Given the description of an element on the screen output the (x, y) to click on. 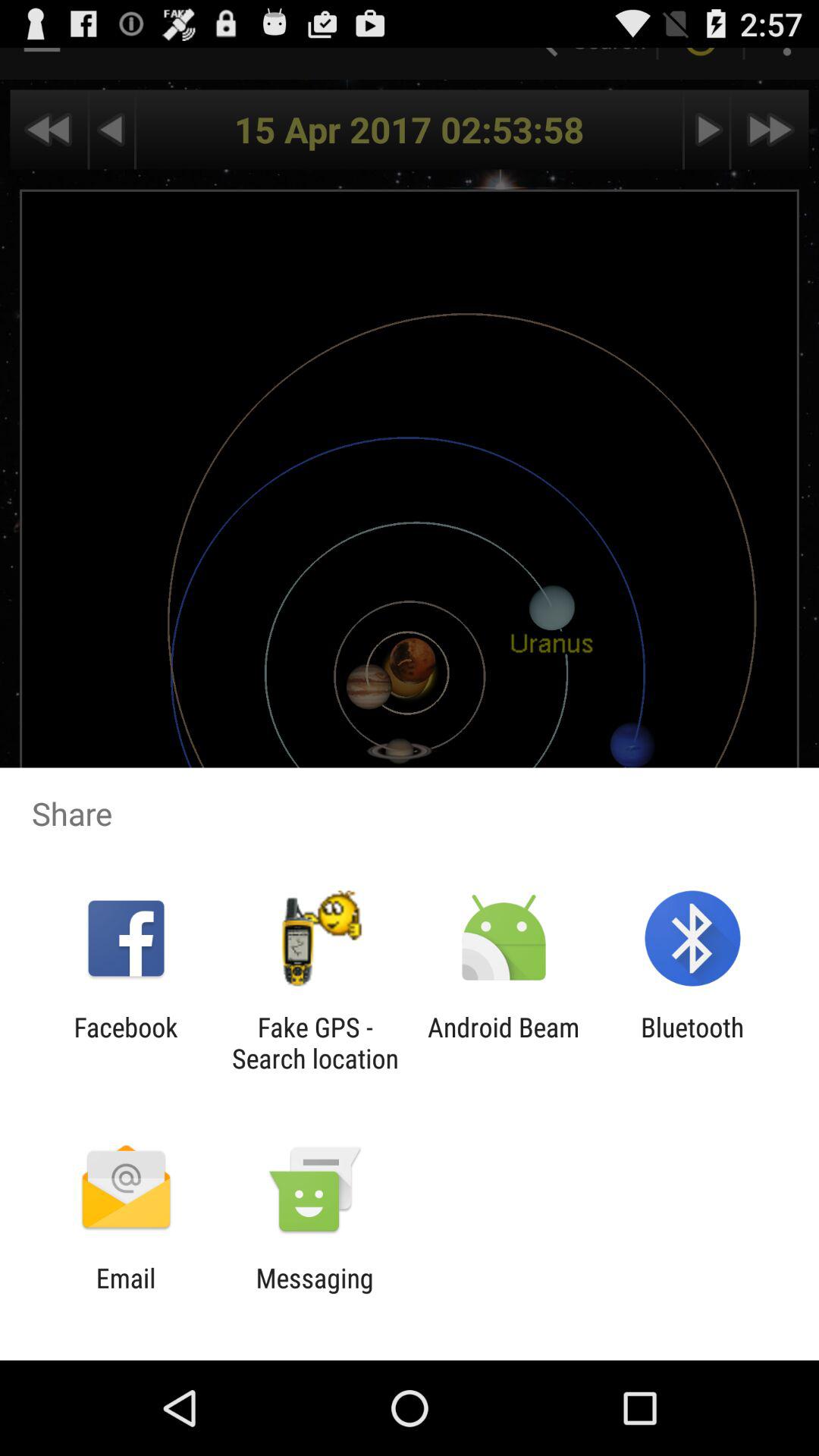
turn off item to the right of email (314, 1293)
